Given the description of an element on the screen output the (x, y) to click on. 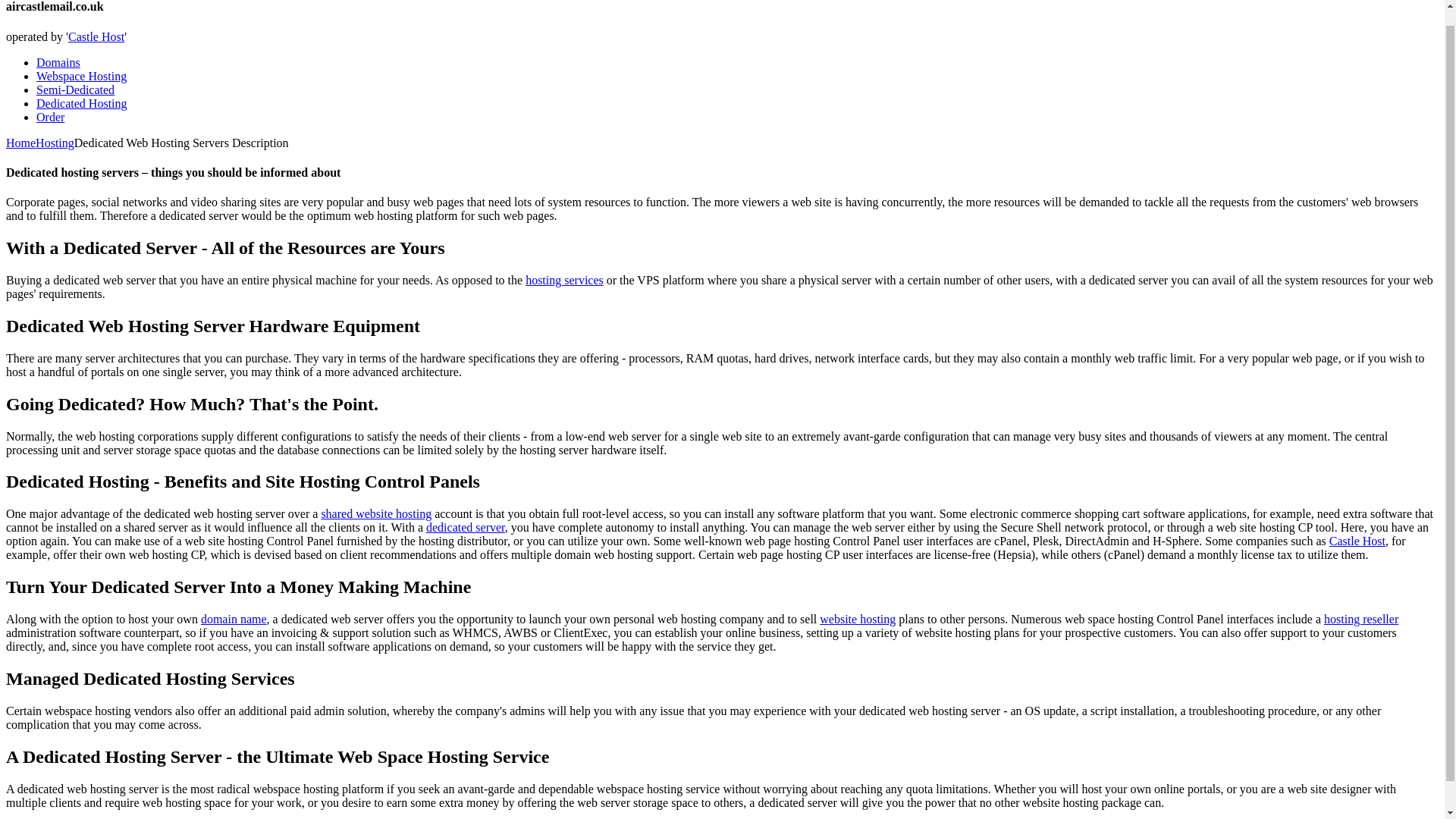
domain name (233, 618)
hosting reseller (1360, 618)
dedicated server (465, 526)
hosting services (564, 279)
Home (19, 142)
Castle Host (1357, 540)
Hosting (54, 142)
Dedicated Hosting (82, 103)
Order (50, 116)
Domains (58, 62)
Castle Host (95, 36)
website hosting (857, 618)
shared website hosting (375, 513)
Webspace Hosting (81, 75)
Semi-Dedicated (75, 89)
